Given the description of an element on the screen output the (x, y) to click on. 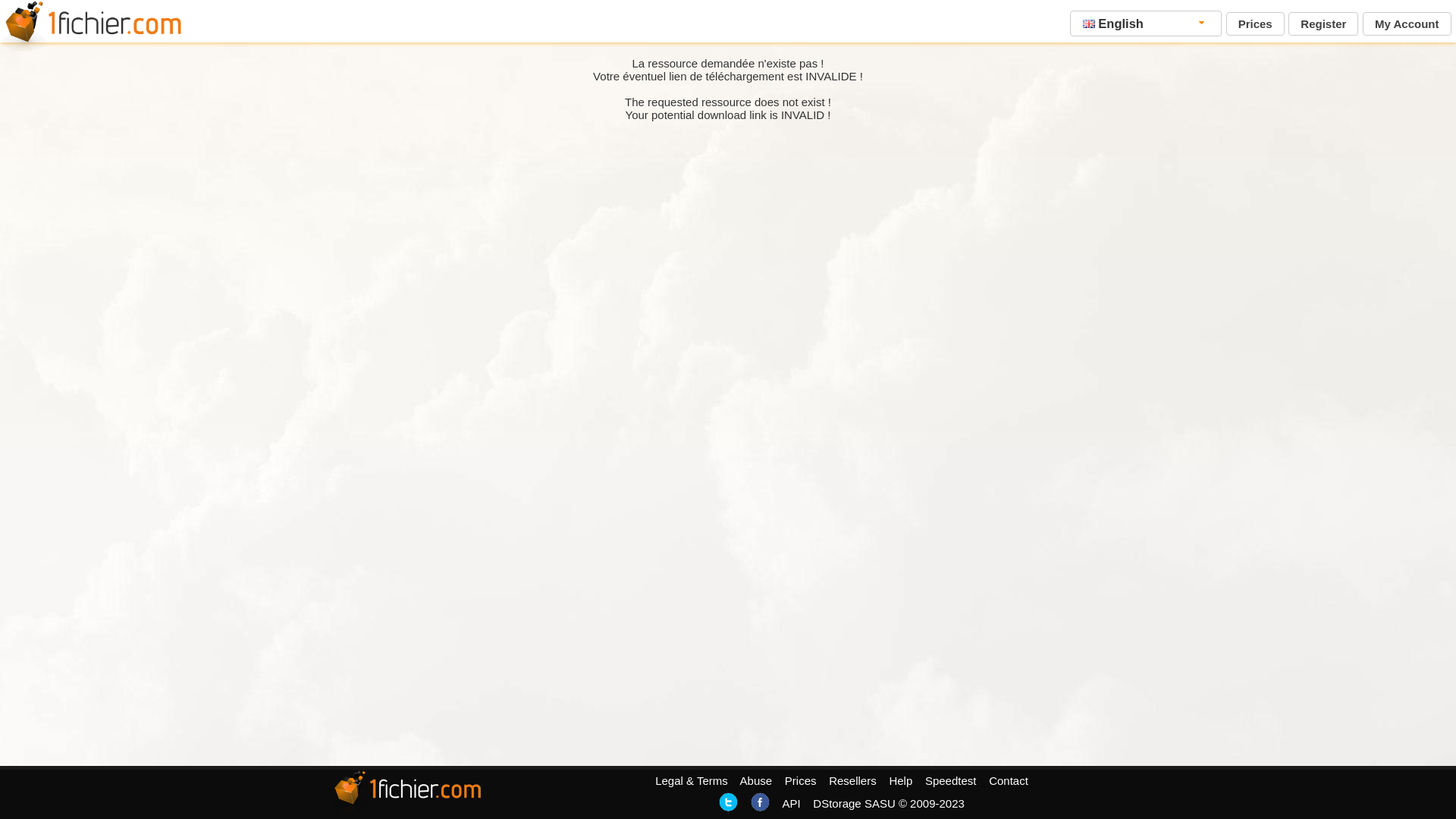
Abuse Element type: text (756, 780)
Speedtest Element type: text (950, 780)
Help Element type: text (900, 780)
Resellers Element type: text (852, 780)
Prices Element type: text (800, 780)
API Element type: text (790, 803)
Prices Element type: text (1255, 23)
Contact Element type: text (1008, 780)
Register Element type: text (1323, 23)
My Account Element type: text (1406, 23)
Legal & Terms Element type: text (691, 780)
